Given the description of an element on the screen output the (x, y) to click on. 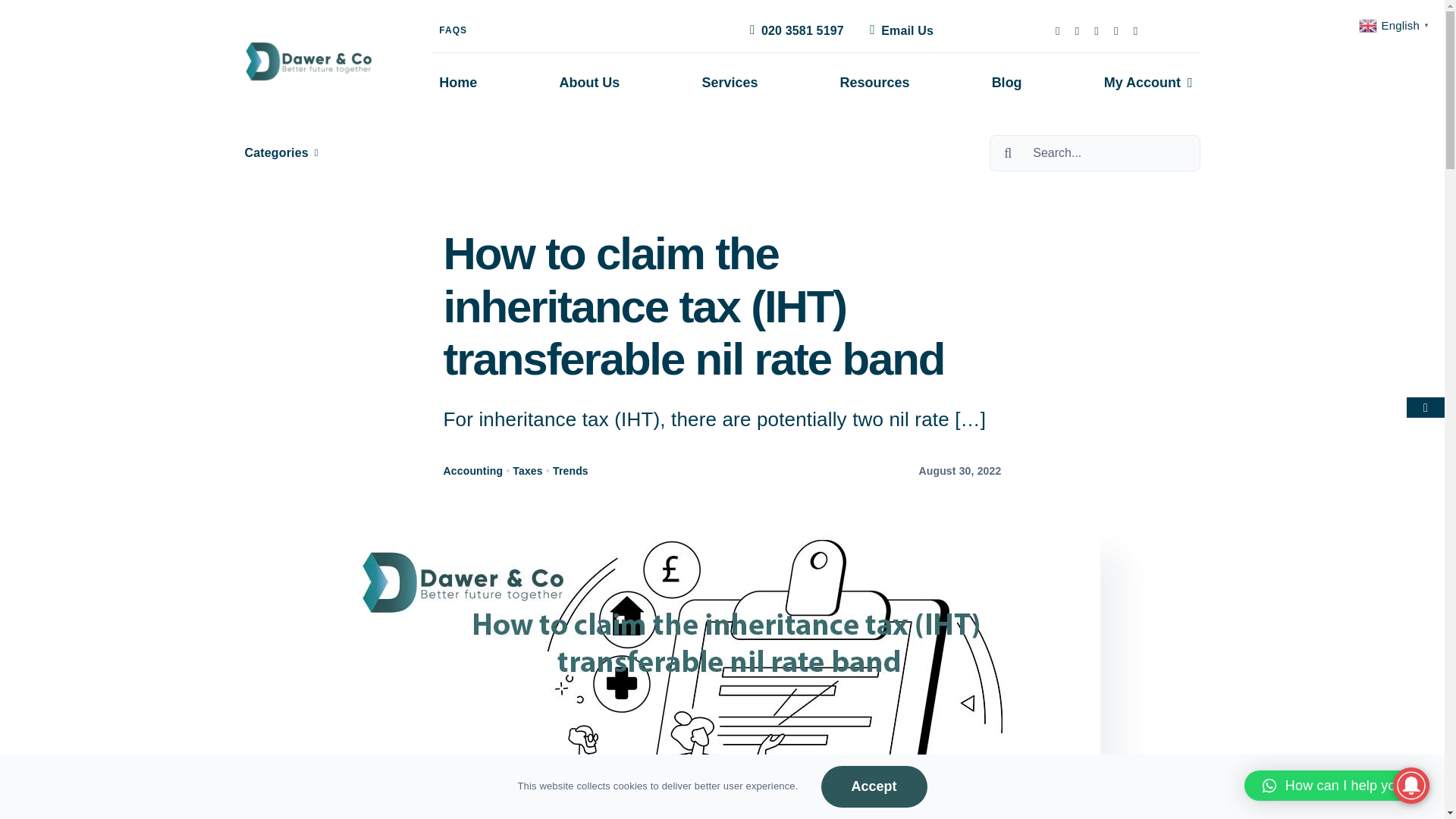
Email Us (898, 30)
Categories (279, 152)
Accounting (473, 470)
020 3581 5197 (793, 30)
About Us (589, 83)
Blog (1006, 83)
Home (457, 83)
FAQS (452, 30)
Resources (874, 83)
Trends (570, 470)
My Account (1147, 83)
Services (729, 83)
Taxes (526, 470)
